Given the description of an element on the screen output the (x, y) to click on. 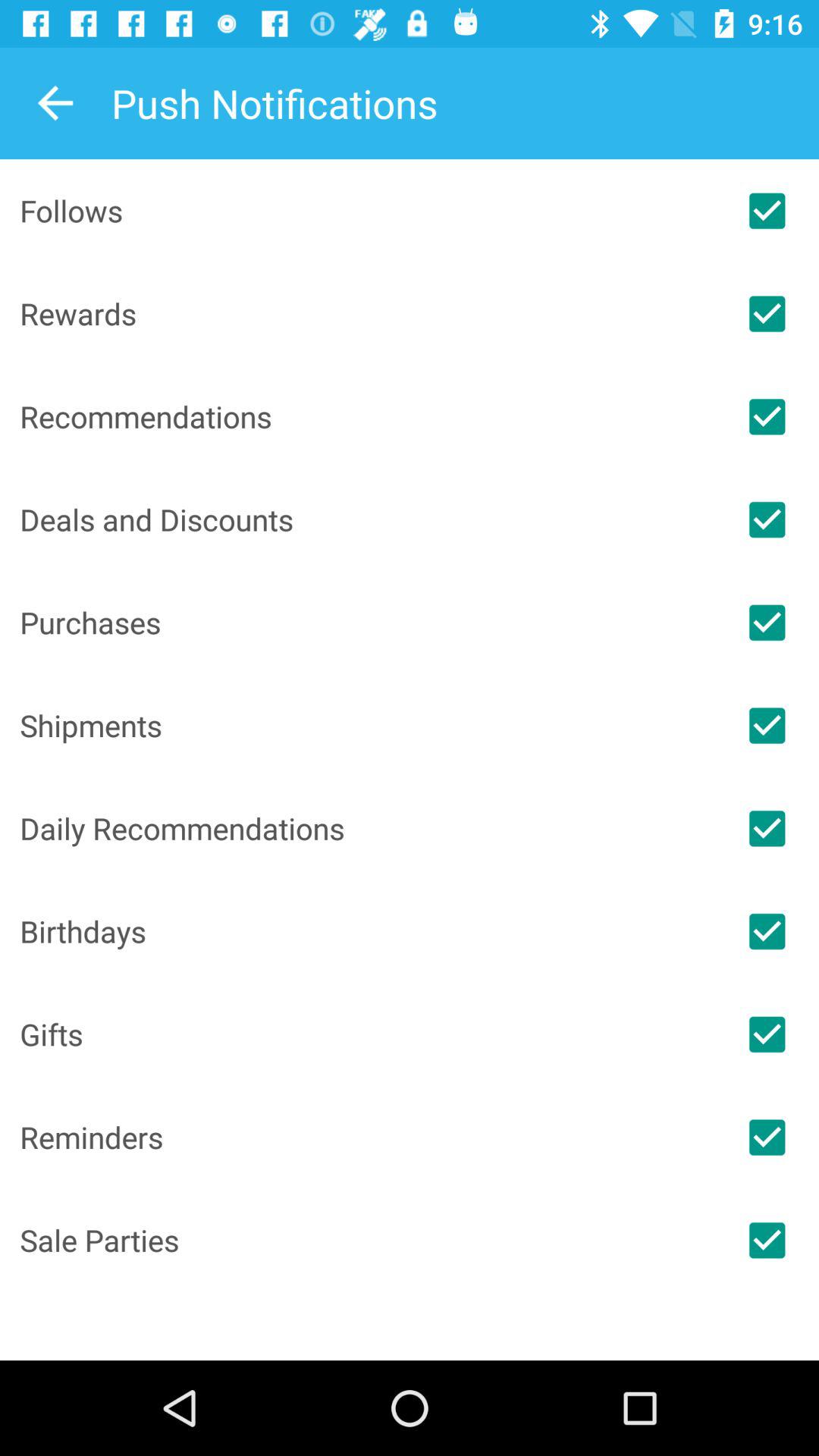
press item next to the push notifications icon (55, 103)
